Given the description of an element on the screen output the (x, y) to click on. 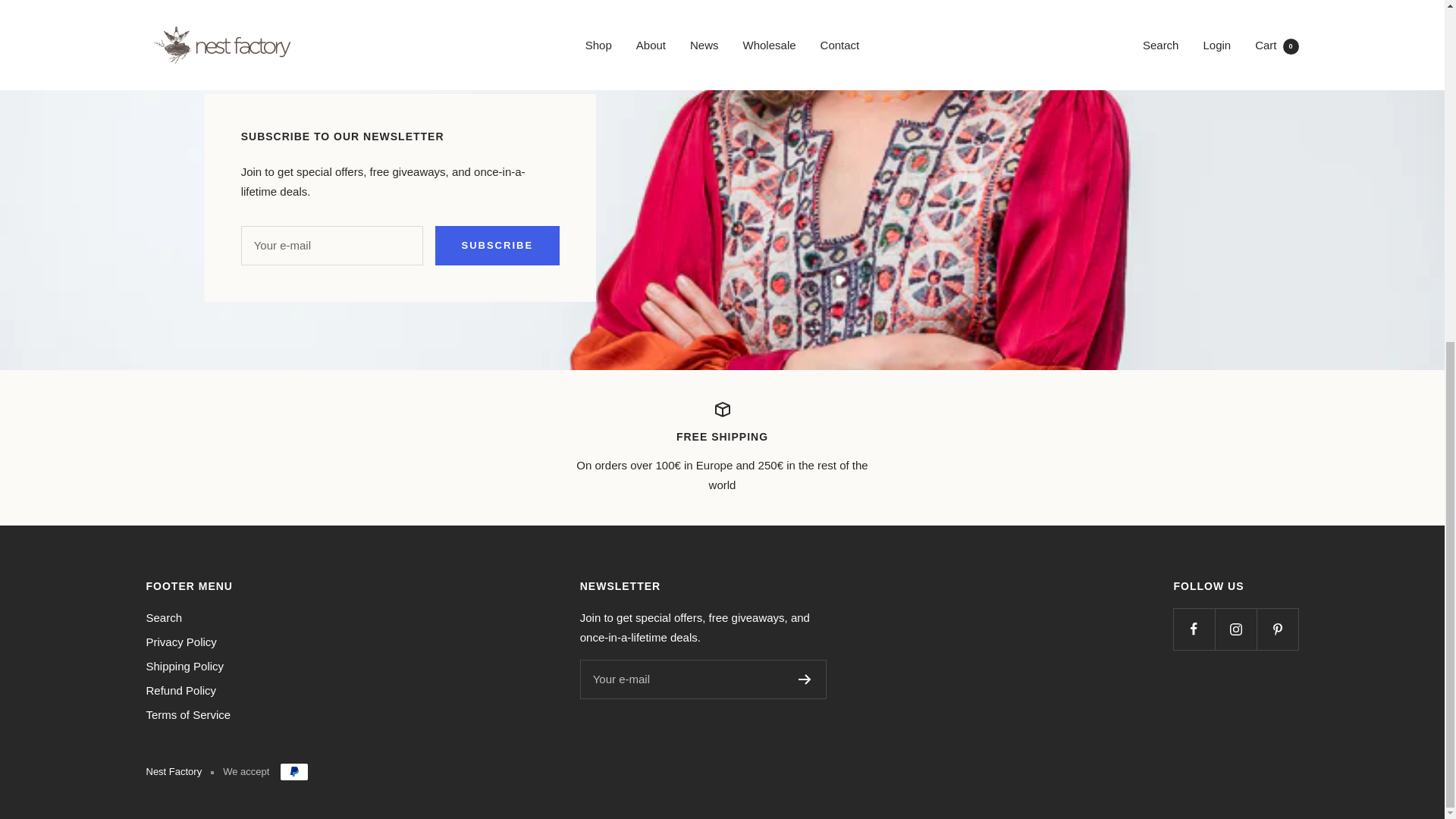
Search (163, 618)
Shipping Policy (184, 666)
SUBSCRIBE (497, 245)
Register (803, 679)
Terms of Service (187, 714)
Privacy Policy (180, 641)
Refund Policy (180, 690)
